Given the description of an element on the screen output the (x, y) to click on. 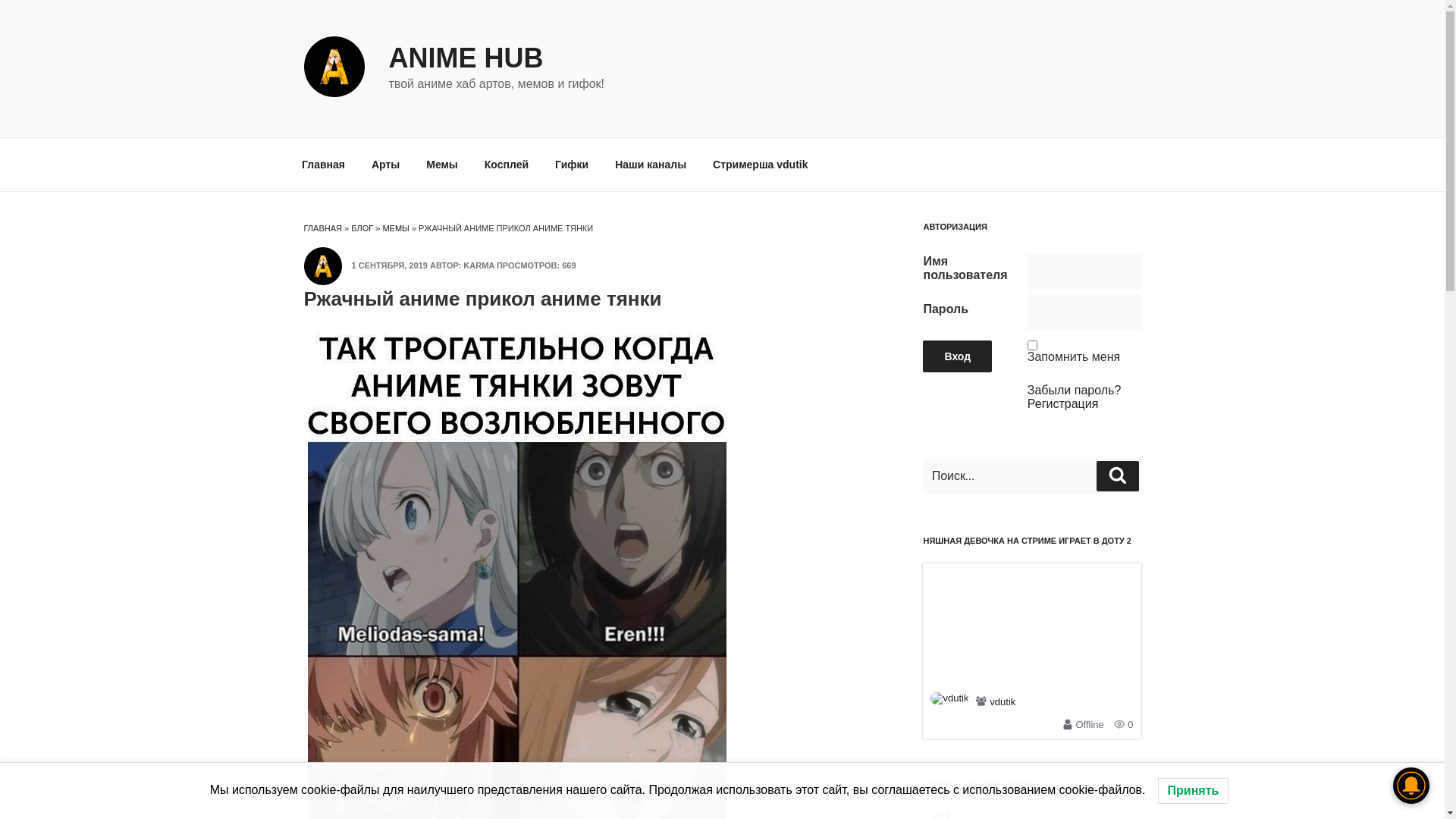
vdutik Element type: text (1002, 701)
KARMA Element type: text (478, 264)
ANIME HUB Element type: text (465, 57)
